Given the description of an element on the screen output the (x, y) to click on. 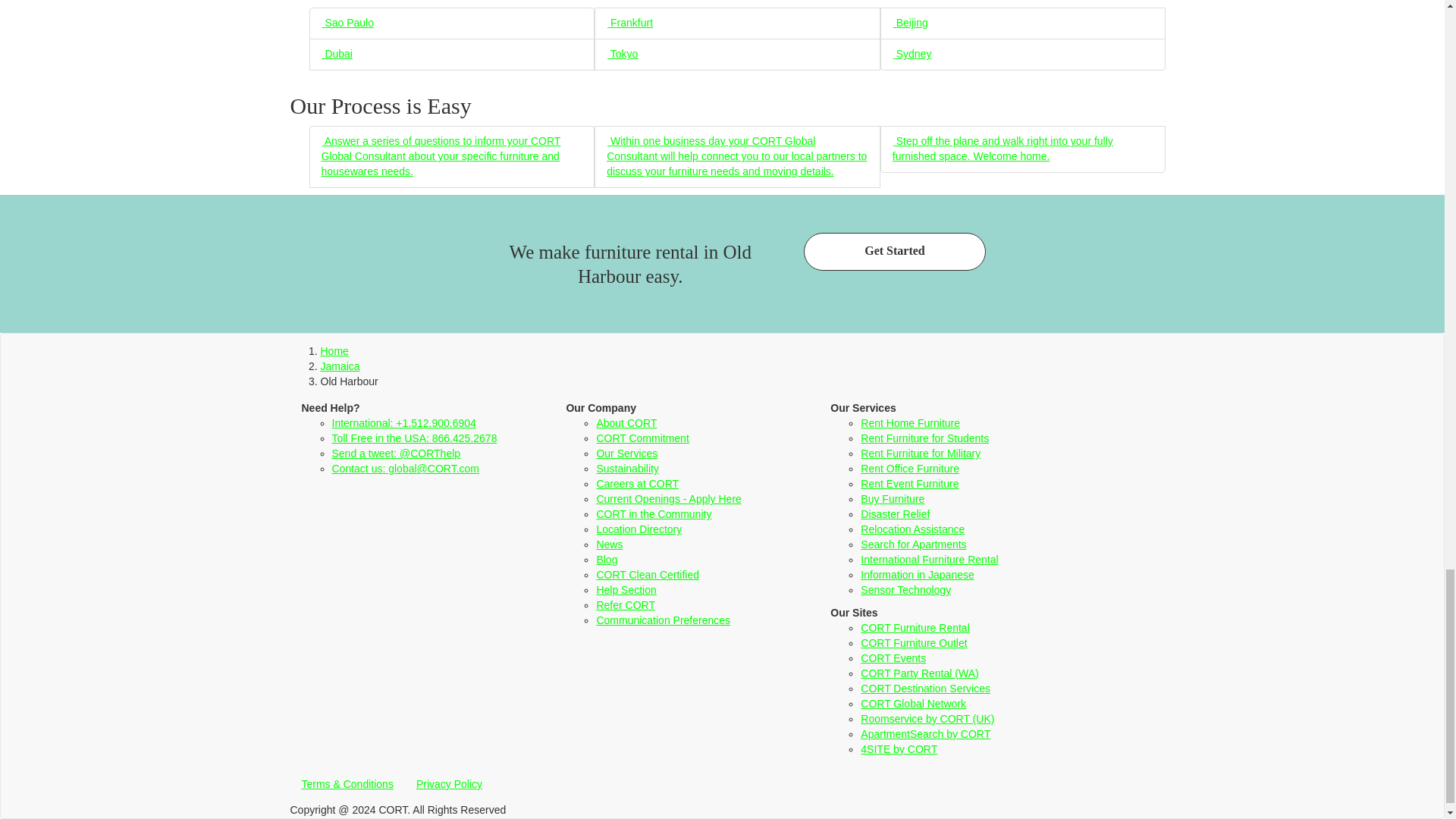
Home (333, 350)
Tokyo (622, 53)
Beijing (910, 22)
Sao Paulo (347, 22)
Frankfurt (629, 22)
Get Started (894, 251)
Jamaica (339, 366)
Dubai (336, 53)
Sydney (911, 53)
